Given the description of an element on the screen output the (x, y) to click on. 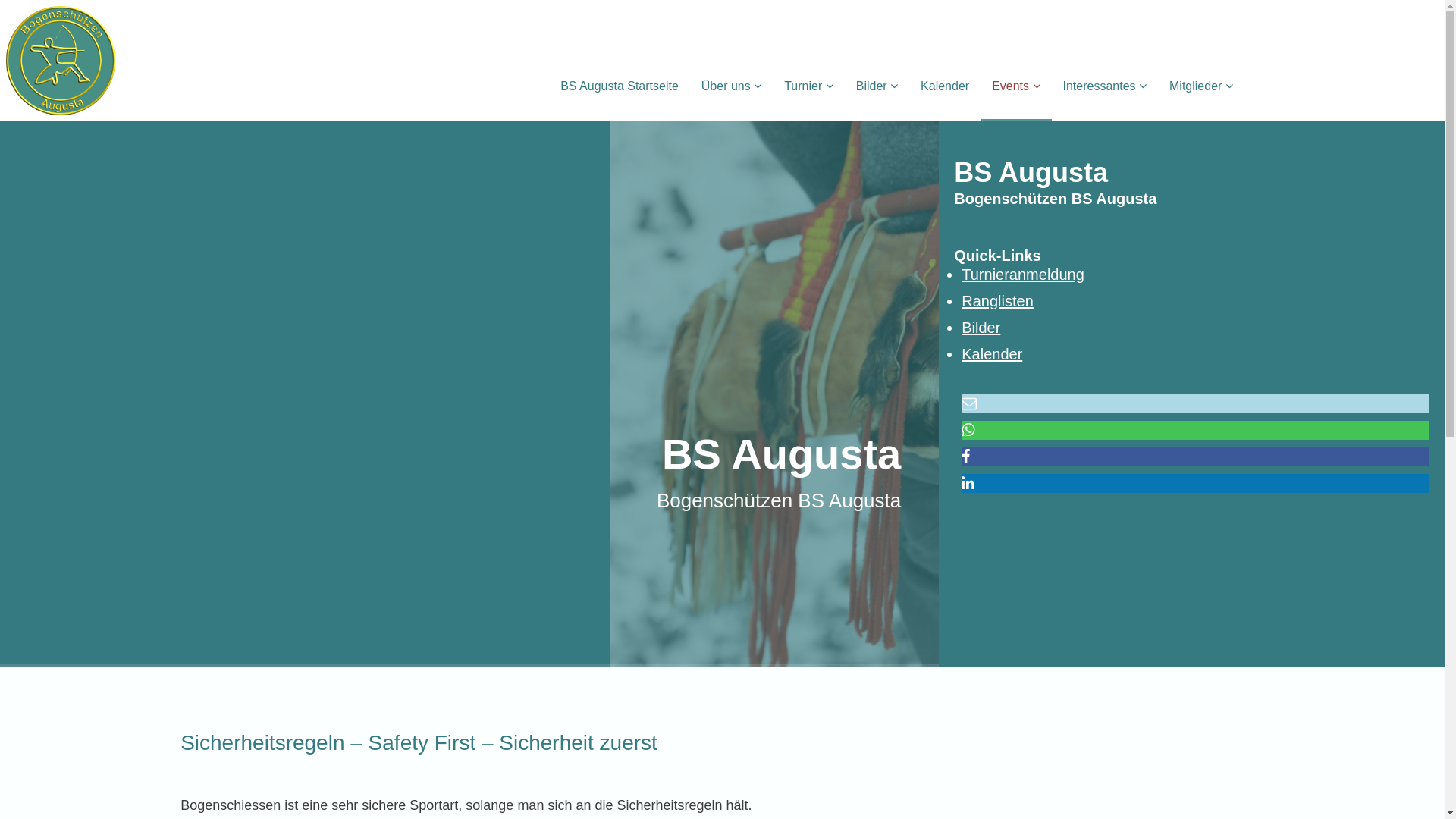
Kalender Element type: text (991, 353)
Ranglisten Element type: text (997, 300)
Mitglieder Element type: text (1201, 85)
Facebook Element type: hover (965, 456)
Bilder Element type: text (876, 85)
Bilder Element type: text (980, 327)
Kalender Element type: text (944, 85)
Turnieranmeldung Element type: text (1022, 274)
BS Augusta Startseite Element type: text (619, 85)
Turnier Element type: text (808, 85)
E-mail Element type: hover (968, 403)
WhatsApp Element type: hover (967, 429)
LinkedIn Element type: hover (967, 482)
Interessantes Element type: text (1105, 85)
Events Element type: text (1015, 85)
